Given the description of an element on the screen output the (x, y) to click on. 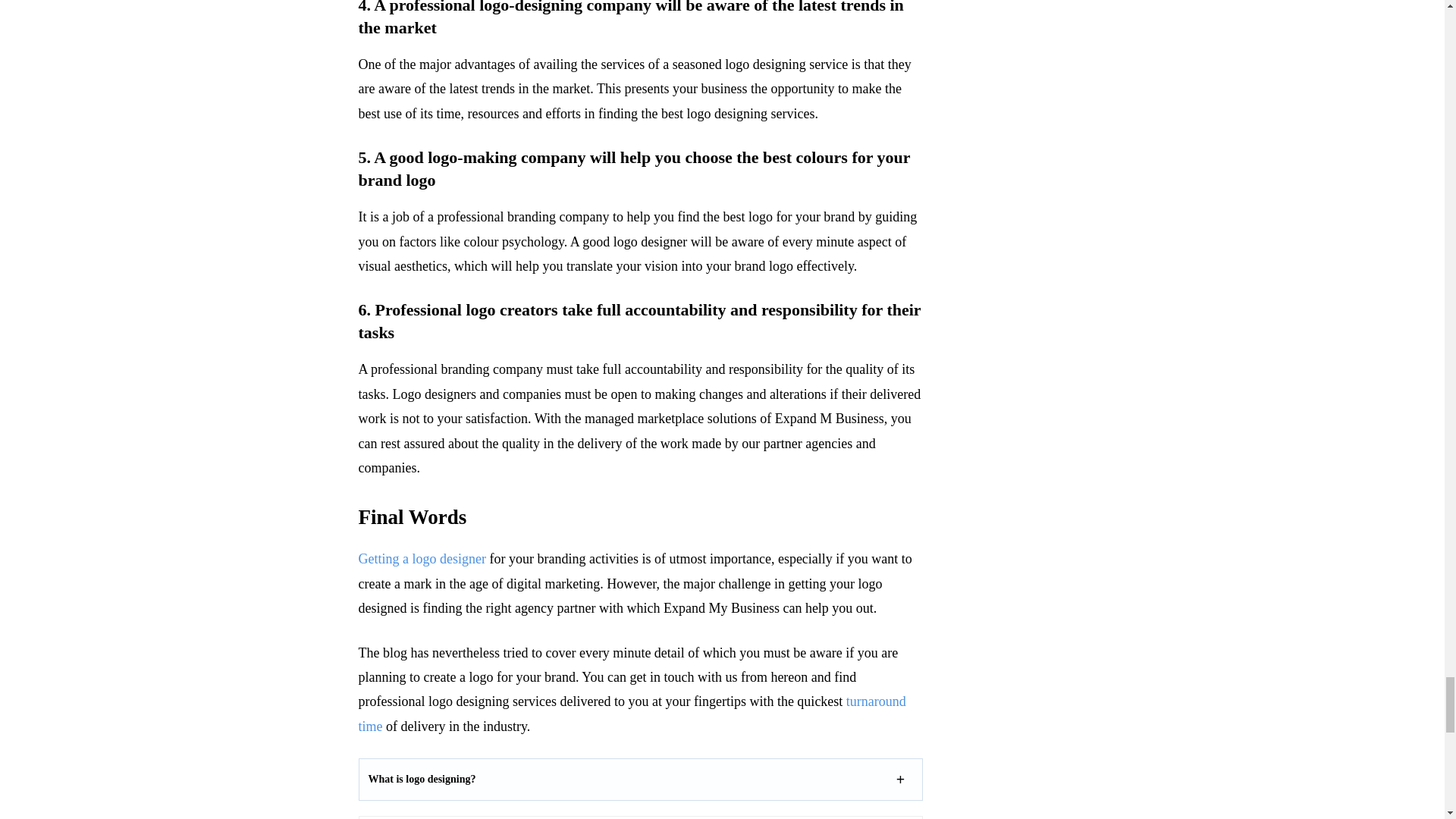
turnaround time (631, 713)
Getting a logo designer (421, 558)
